Given the description of an element on the screen output the (x, y) to click on. 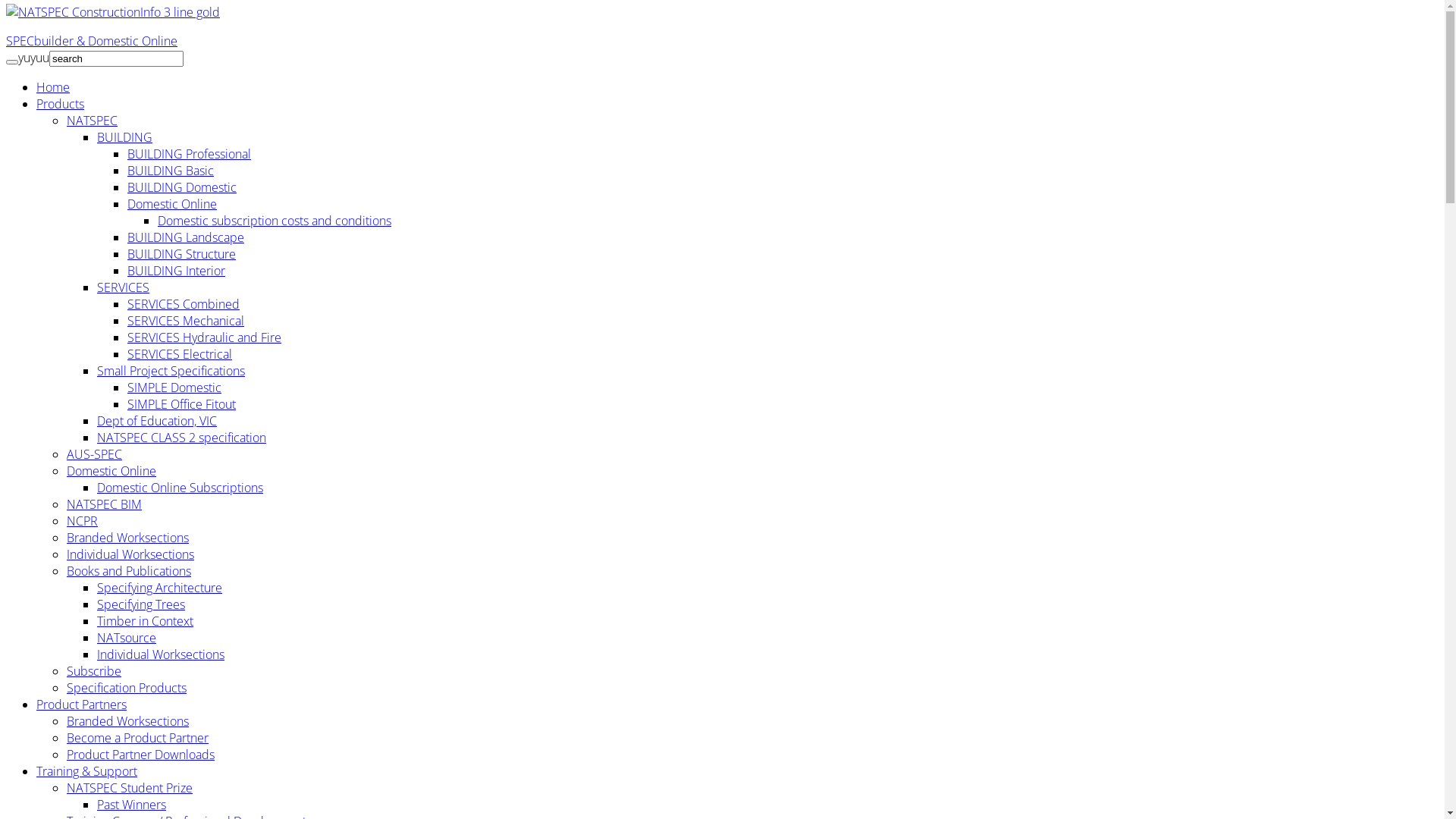
AUS-SPEC Element type: text (94, 453)
SERVICES Combined Element type: text (183, 303)
SERVICES Element type: text (123, 287)
NATSPEC Element type: text (91, 120)
BUILDING Basic Element type: text (170, 170)
Product Partner Downloads Element type: text (140, 754)
BUILDING Element type: text (124, 136)
Individual Worksections Element type: text (160, 654)
NATsource Element type: text (126, 637)
Past Winners Element type: text (131, 804)
Small Project Specifications Element type: text (170, 370)
BUILDING Domestic Element type: text (181, 186)
SERVICES Hydraulic and Fire Element type: text (204, 337)
Individual Worksections Element type: text (130, 554)
Training & Support Element type: text (86, 770)
NCPR Element type: text (81, 520)
Specifying Architecture Element type: text (159, 587)
Domestic subscription costs and conditions Element type: text (274, 220)
Specification Products Element type: text (126, 687)
SERVICES Mechanical Element type: text (185, 320)
Home Element type: text (52, 86)
BUILDING Landscape Element type: text (185, 237)
Subscribe Element type: text (93, 670)
SIMPLE Domestic Element type: text (174, 387)
BUILDING Interior Element type: text (176, 270)
SPECbuilder & Domestic Online Element type: text (91, 40)
NATSPEC BIM Element type: text (103, 503)
Books and Publications Element type: text (128, 570)
Domestic Online Subscriptions Element type: text (180, 487)
Domestic Online Element type: text (111, 470)
BUILDING Professional Element type: text (189, 153)
Become a Product Partner Element type: text (137, 737)
Domestic Online Element type: text (171, 203)
NATSPEC CLASS 2 specification Element type: text (181, 437)
SIMPLE Office Fitout Element type: text (181, 403)
Specifying Trees Element type: text (141, 604)
Products Element type: text (60, 103)
Timber in Context Element type: text (145, 620)
Dept of Education, VIC Element type: text (156, 420)
Branded Worksections Element type: text (127, 720)
NATSPEC Student Prize Element type: text (129, 787)
Branded Worksections Element type: text (127, 537)
SERVICES Electrical Element type: text (179, 353)
BUILDING Structure Element type: text (181, 253)
Product Partners Element type: text (81, 704)
